Given the description of an element on the screen output the (x, y) to click on. 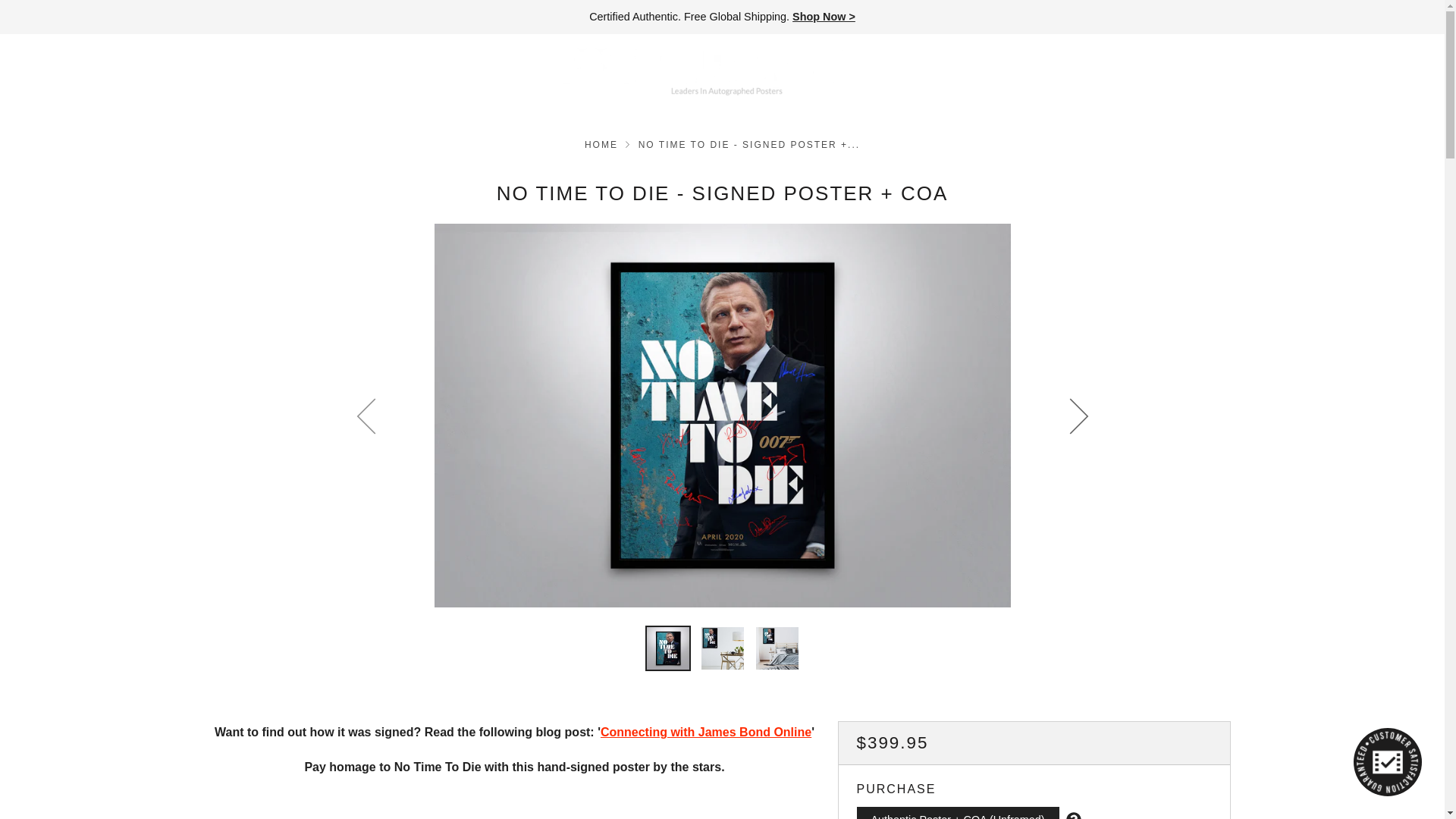
Home (601, 144)
New Releases (824, 16)
SHOP BY CATEGORY (93, 70)
